Given the description of an element on the screen output the (x, y) to click on. 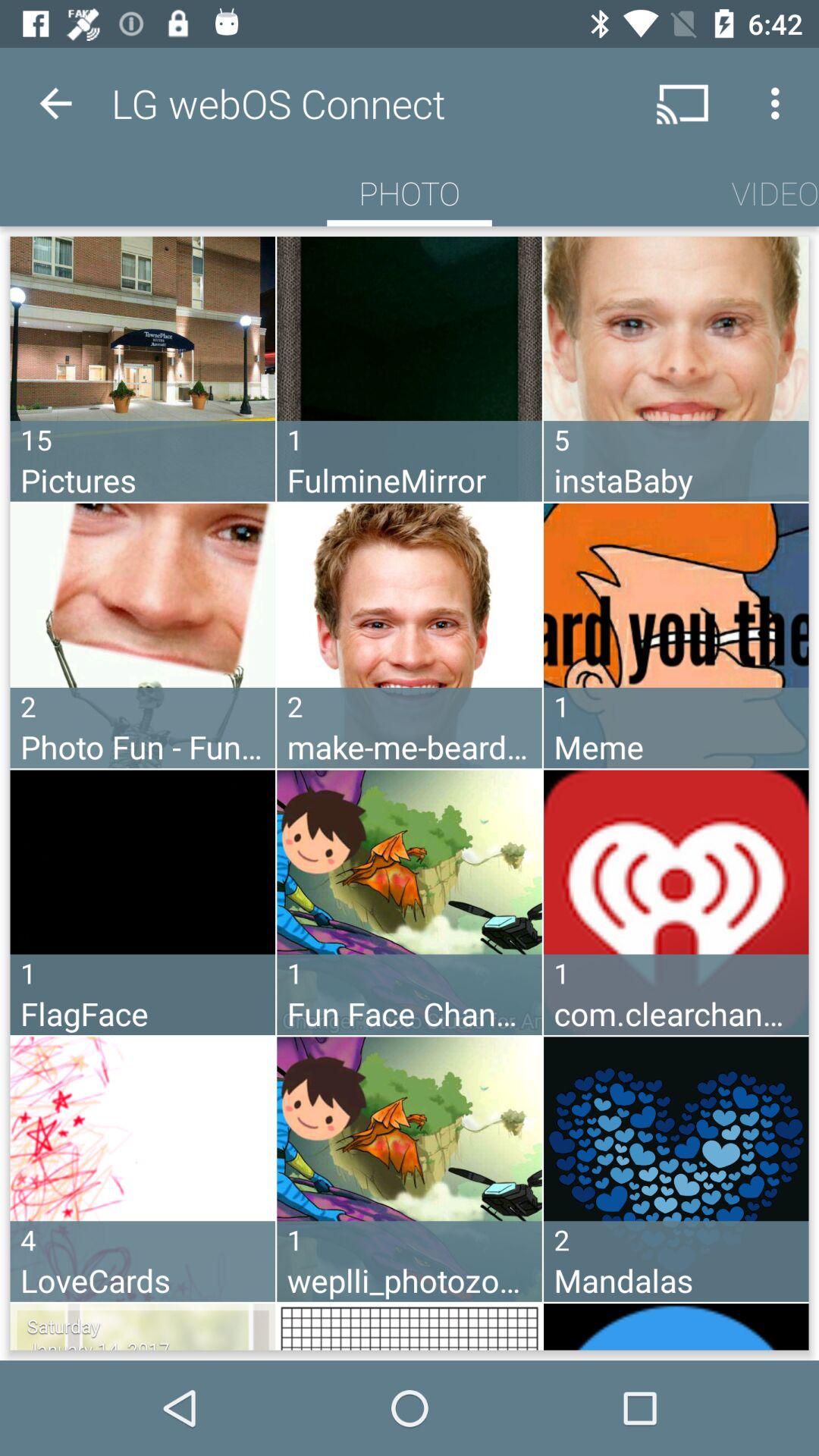
press app above video app (779, 103)
